Given the description of an element on the screen output the (x, y) to click on. 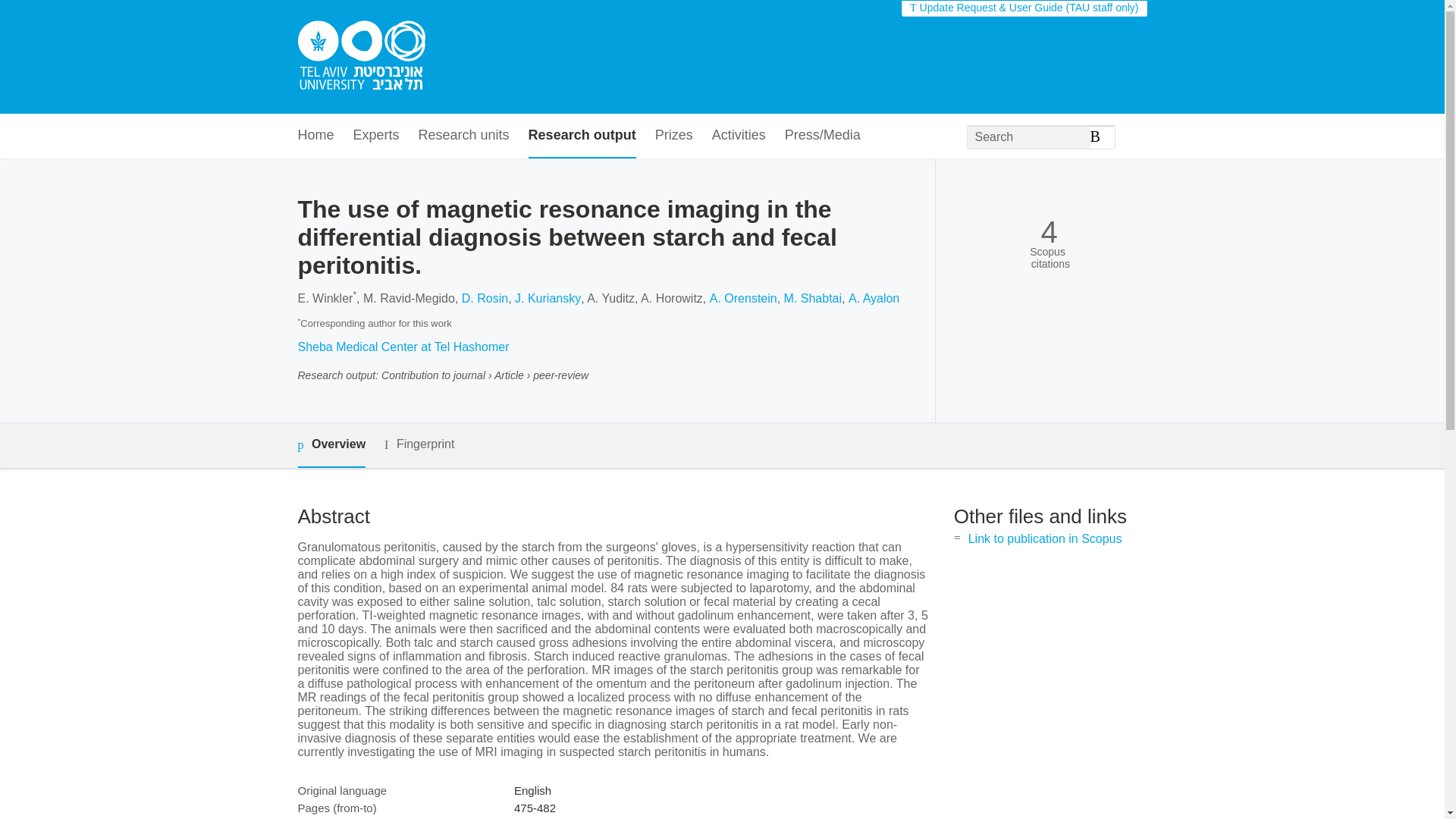
J. Kuriansky (547, 297)
Home (315, 135)
D. Rosin (484, 297)
Tel Aviv University Home (361, 56)
Sheba Medical Center at Tel Hashomer (402, 346)
Overview (331, 445)
A. Ayalon (873, 297)
Link to publication in Scopus (1045, 538)
Prizes (674, 135)
Experts (375, 135)
M. Shabtai (812, 297)
A. Orenstein (743, 297)
Activities (738, 135)
Fingerprint (419, 444)
